Given the description of an element on the screen output the (x, y) to click on. 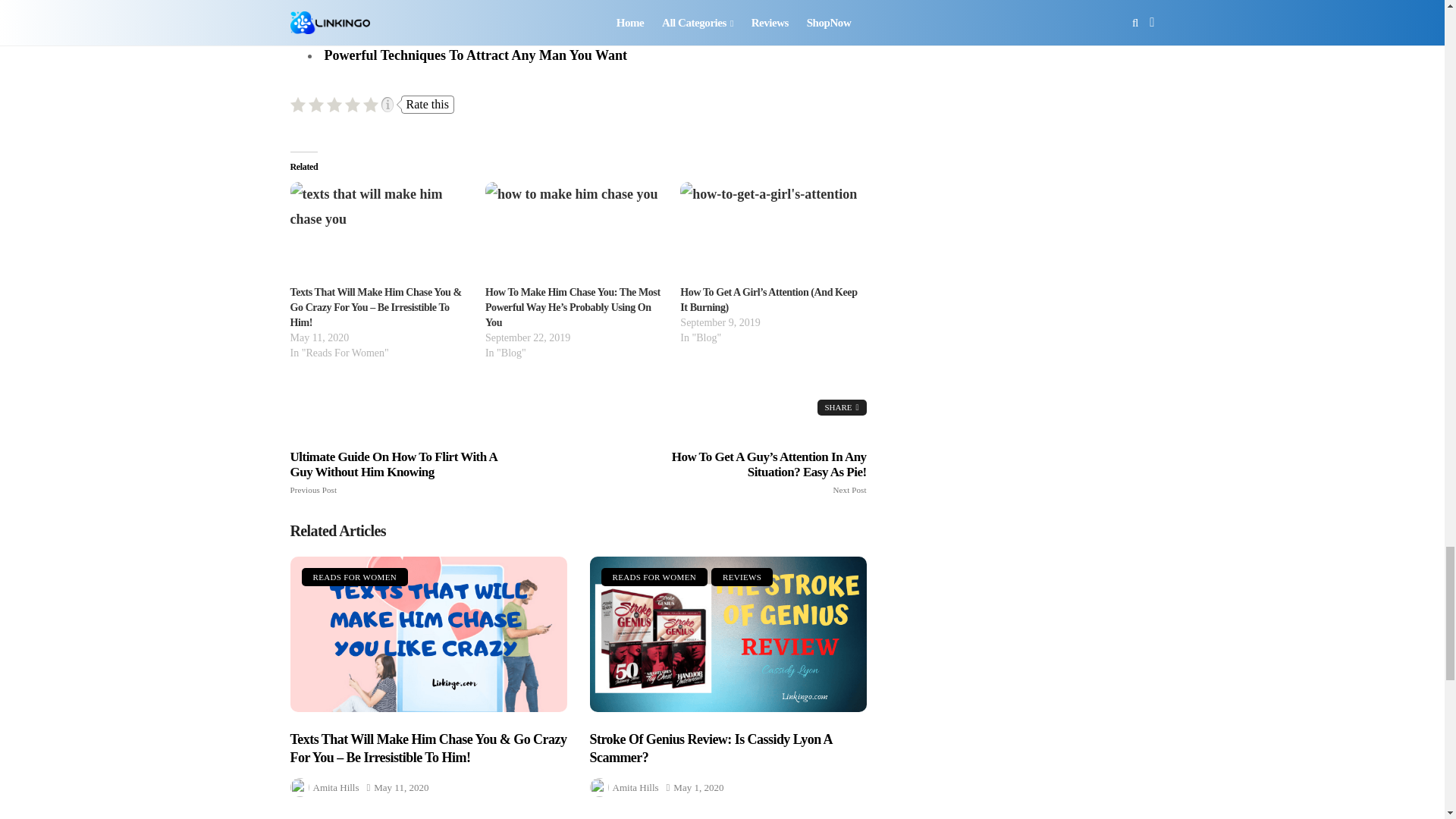
Posts by Amita Hills (635, 787)
Stroke Of Genius Review: Is Cassidy Lyon A Scammer? (727, 633)
Posts by Amita Hills (335, 787)
